Given the description of an element on the screen output the (x, y) to click on. 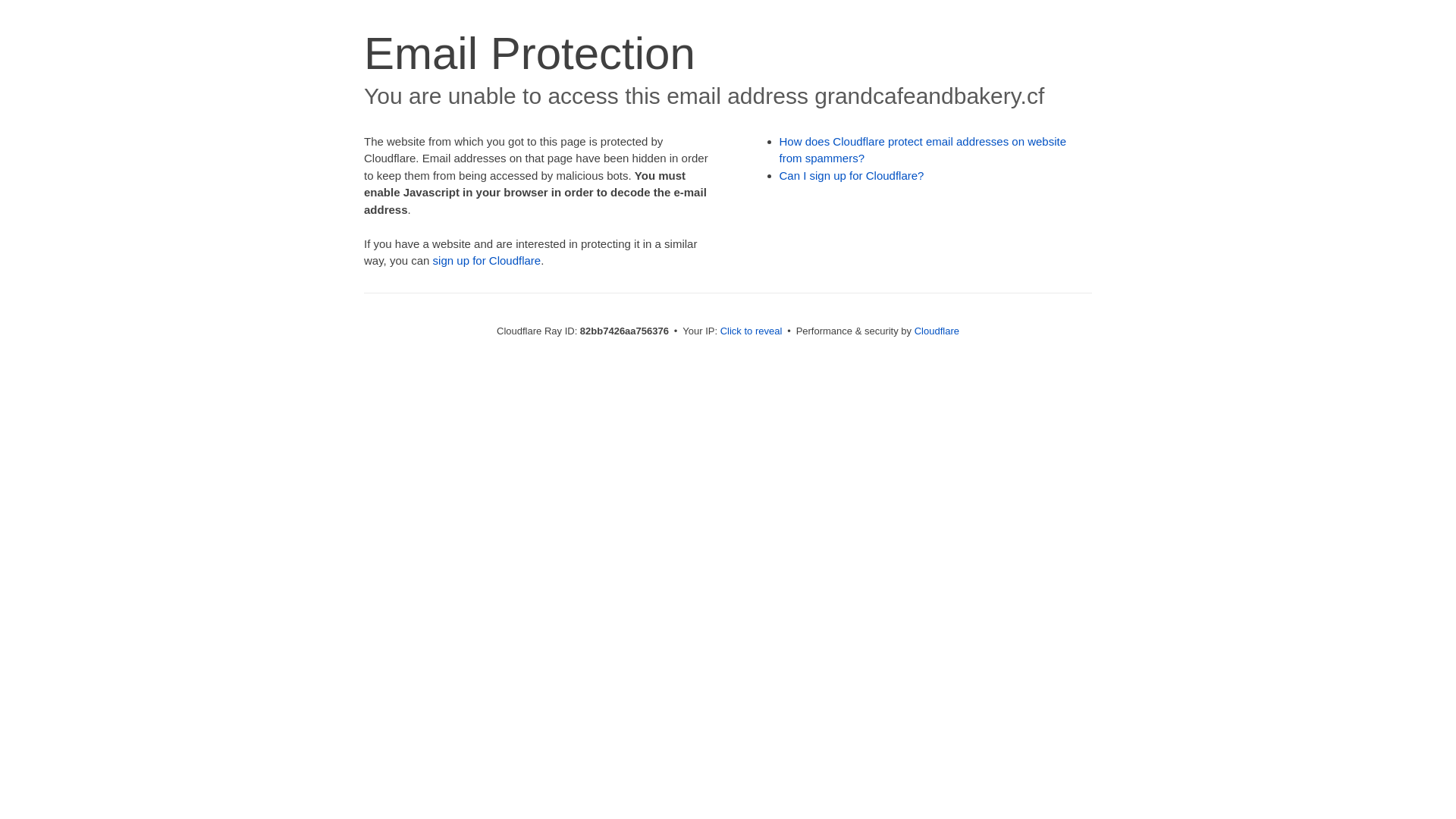
Cloudflare Element type: text (936, 330)
sign up for Cloudflare Element type: text (487, 260)
Click to reveal Element type: text (751, 330)
Can I sign up for Cloudflare? Element type: text (851, 175)
